Given the description of an element on the screen output the (x, y) to click on. 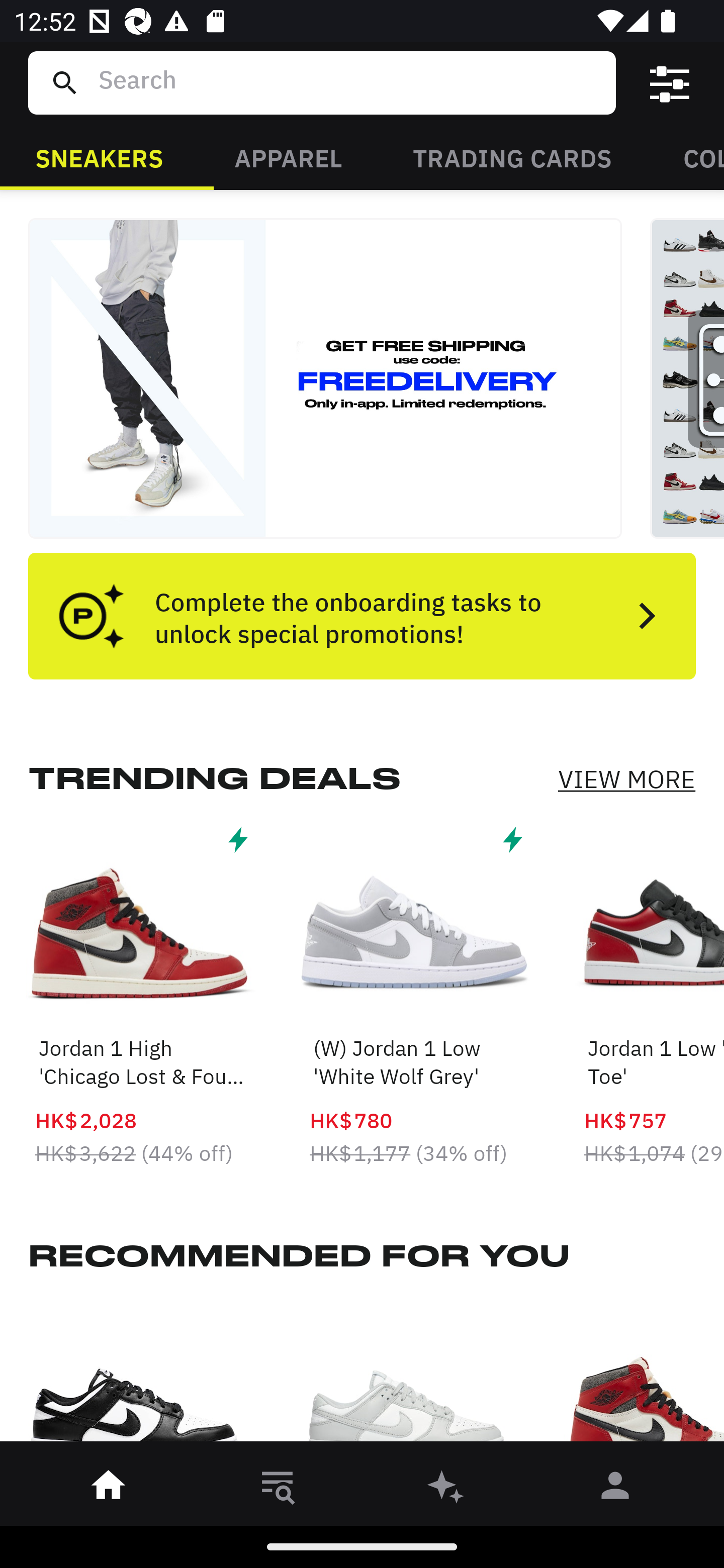
Search (349, 82)
 (669, 82)
SNEAKERS (99, 156)
APPAREL (287, 156)
TRADING CARDS (512, 156)
VIEW MORE (626, 779)
󰋜 (108, 1488)
󱎸 (277, 1488)
󰫢 (446, 1488)
󰀄 (615, 1488)
